Given the description of an element on the screen output the (x, y) to click on. 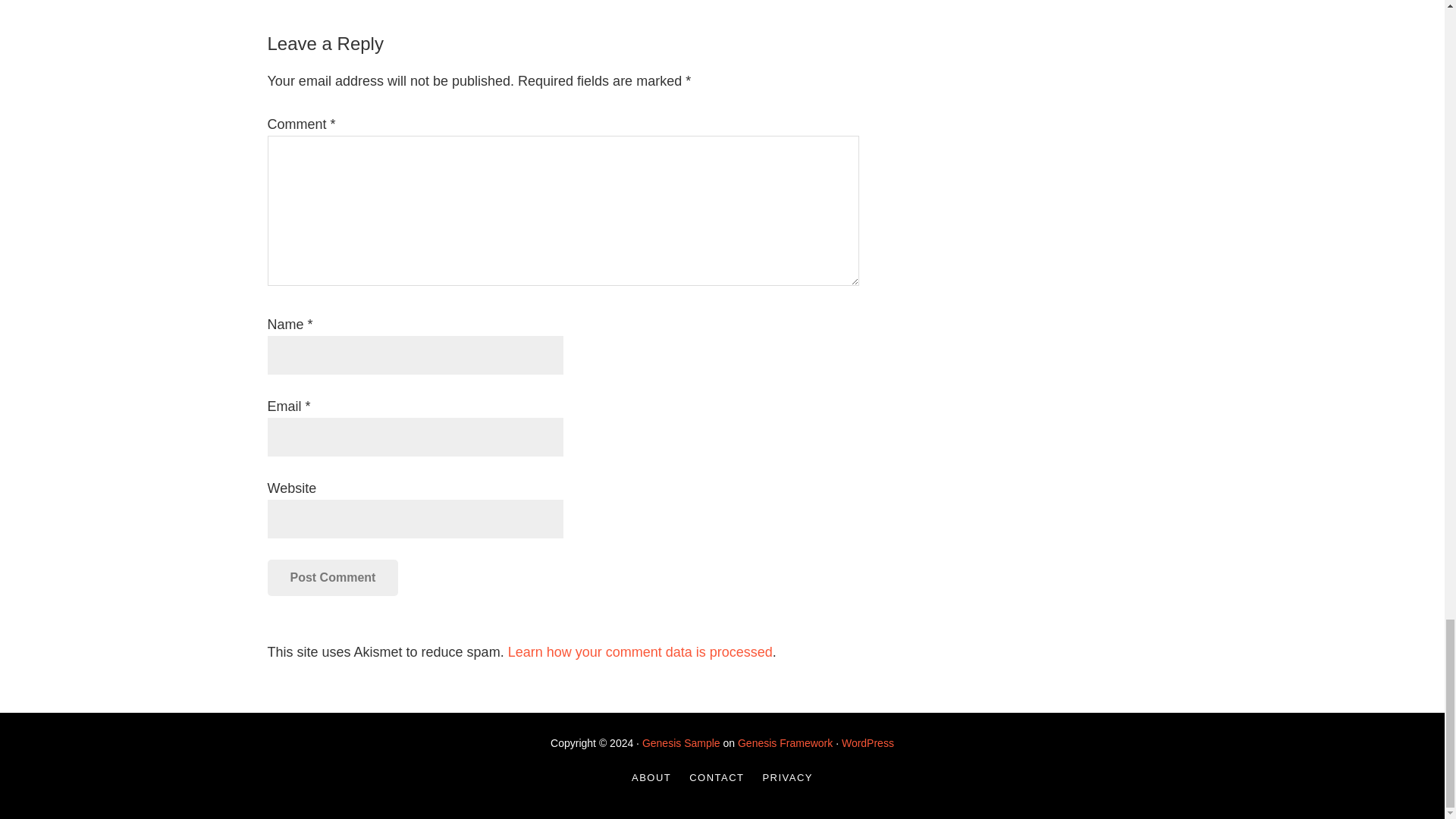
Post Comment (331, 577)
Learn how your comment data is processed (640, 652)
Post Comment (331, 577)
